Given the description of an element on the screen output the (x, y) to click on. 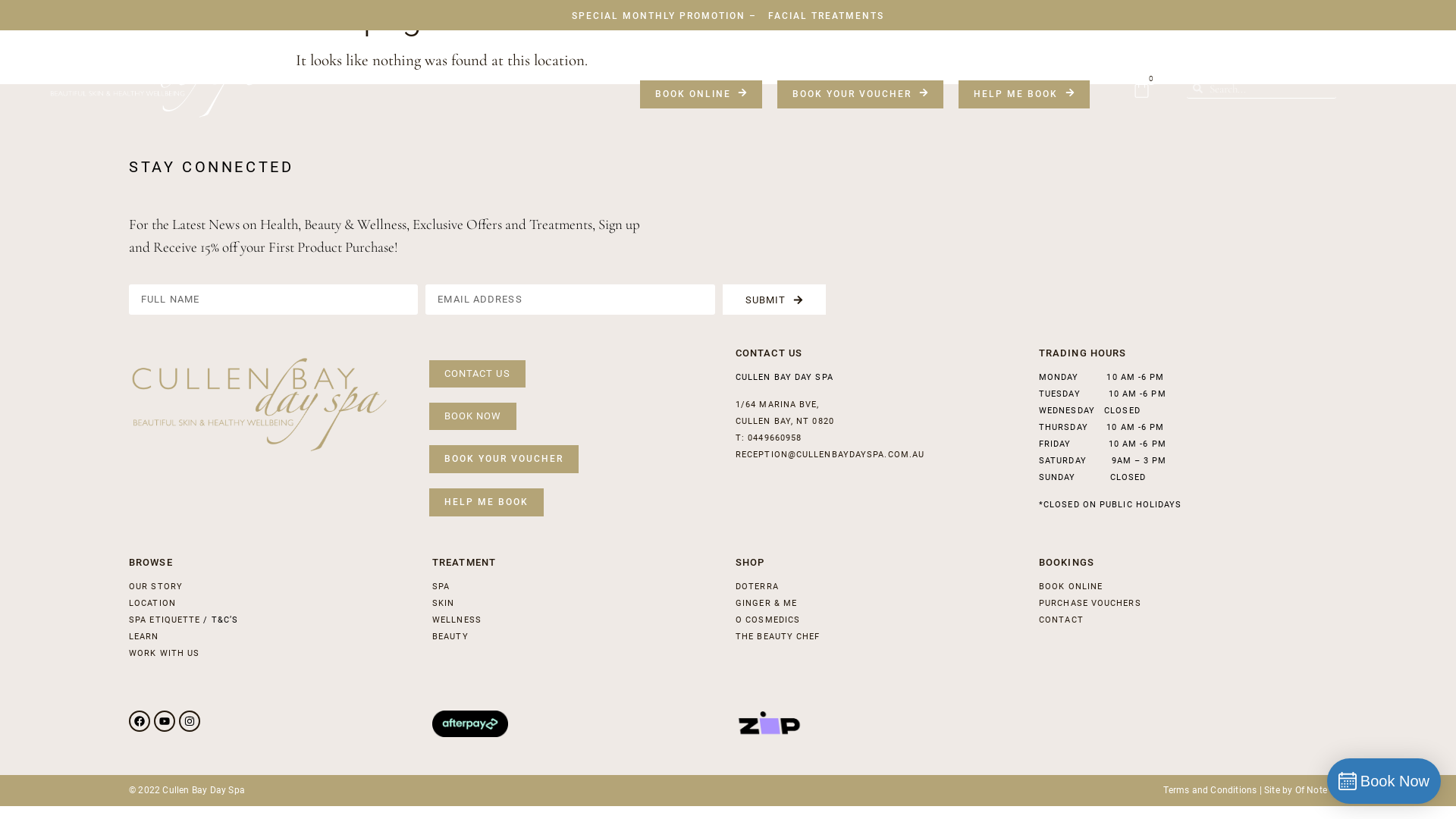
OUR STORY Element type: text (696, 53)
LEARN Element type: text (143, 636)
CULLEN BAY, NT 0820 Element type: text (784, 421)
0 Element type: text (1141, 87)
PURCHASE VOUCHERS Element type: text (1089, 603)
HELP ME BOOK Element type: text (1023, 94)
BOOK ONLINE Element type: text (701, 94)
SPA Element type: text (440, 586)
LEARN Element type: text (1258, 53)
WELLNESS Element type: text (456, 619)
CONTACT Element type: text (1060, 619)
Book Now Element type: text (1383, 780)
CONTACT US Element type: text (477, 373)
WELLNESS Element type: text (960, 53)
OUR STORY Element type: text (155, 586)
SHOP Element type: text (1022, 53)
HELP ME BOOK Element type: text (486, 502)
WORK WITH US Element type: text (163, 653)
BEAUTY Element type: text (450, 636)
SKIN Element type: text (443, 603)
SPECIAL OFFERS Element type: text (1096, 53)
BEAUTY Element type: text (805, 53)
LOCATION Element type: text (151, 603)
SUBMIT Element type: text (774, 299)
CONTACT Element type: text (1316, 53)
BOOK NOW Element type: text (473, 415)
BOOK ONLINE Element type: text (1070, 586)
1/64 MARINA BVE, Element type: text (777, 404)
MENU Element type: text (753, 53)
GINGER & ME Element type: text (766, 603)
SPA ETIQUETTE Element type: text (164, 619)
T: 0449660958 Element type: text (768, 437)
RECEPTION@CULLENBAYDAYSPA.COM.AU Element type: text (829, 454)
GIFT VOUCHER Element type: text (1187, 53)
O COSMEDICS Element type: text (767, 619)
BOOK YOUR VOUCHER Element type: text (860, 94)
DOTERRA Element type: text (756, 586)
SPA Element type: text (902, 53)
THE BEAUTY CHEF Element type: text (777, 636)
BOOK YOUR VOUCHER Element type: text (503, 459)
SKIN Element type: text (858, 53)
